Given the description of an element on the screen output the (x, y) to click on. 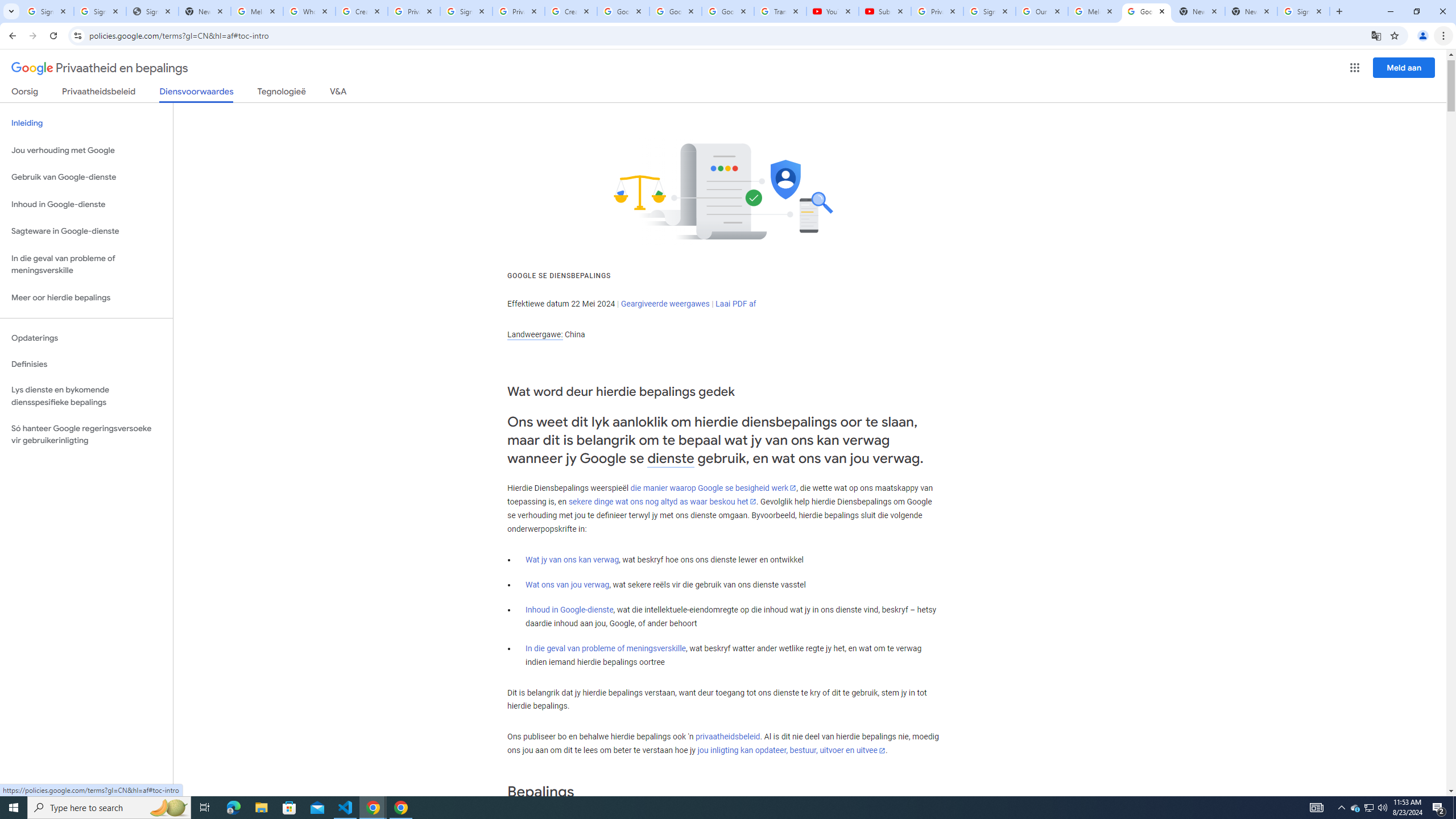
privaatheidsbeleid (727, 737)
dienste (670, 458)
In die geval van probleme of meningsverskille (605, 647)
Jou verhouding met Google (86, 150)
Wat ons van jou verwag (567, 584)
sekere dinge wat ons nog altyd as waar beskou het (662, 501)
Inhoud in Google-dienste (568, 609)
Privaatheidsbeleid (98, 93)
Who is my administrator? - Google Account Help (309, 11)
